Given the description of an element on the screen output the (x, y) to click on. 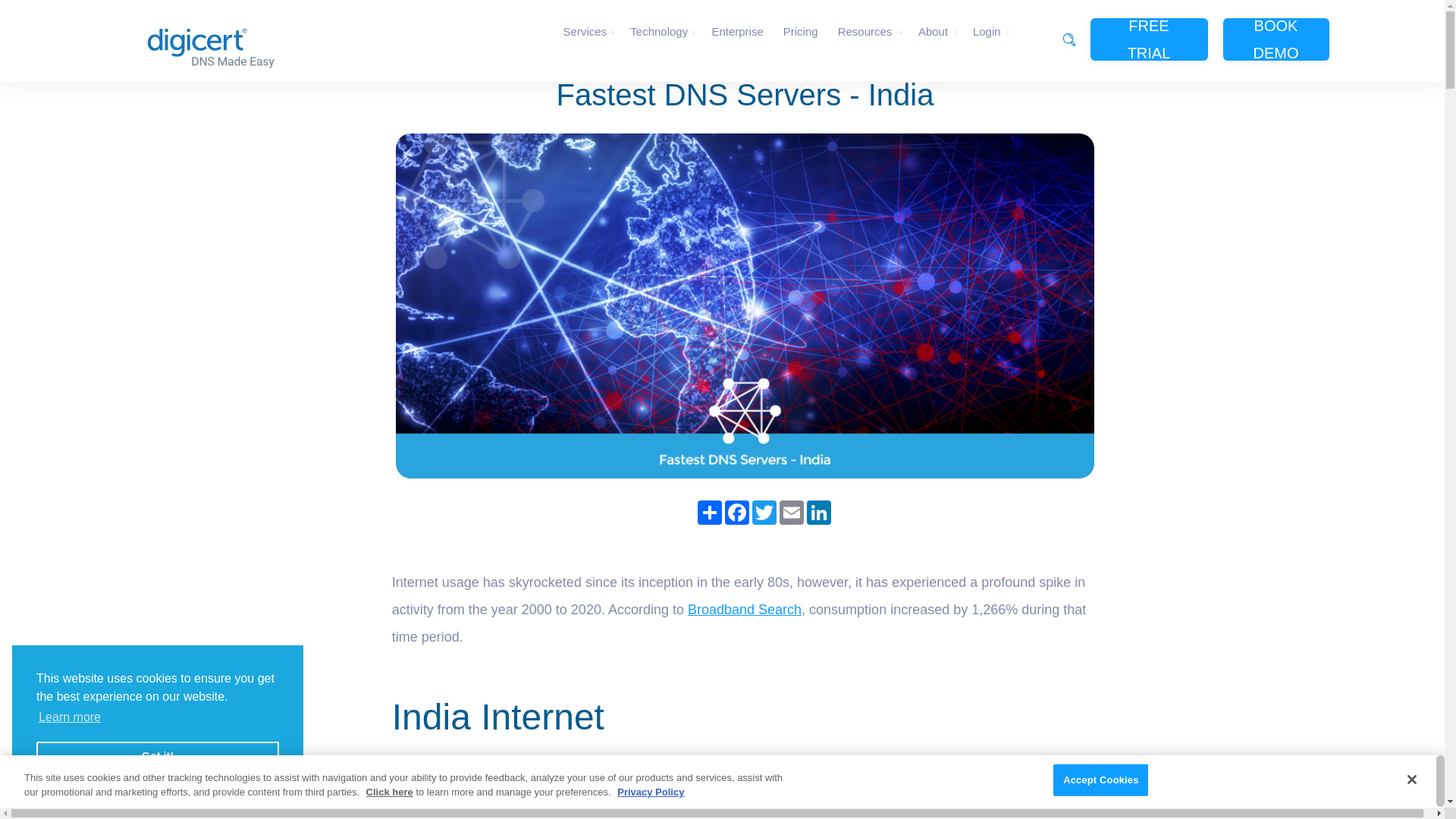
Pricing (802, 31)
Learn more (69, 716)
Chat (1406, 767)
BOOK DEMO (1275, 39)
FREE TRIAL (1149, 39)
Enterprise (738, 31)
Got it! (157, 757)
